Given the description of an element on the screen output the (x, y) to click on. 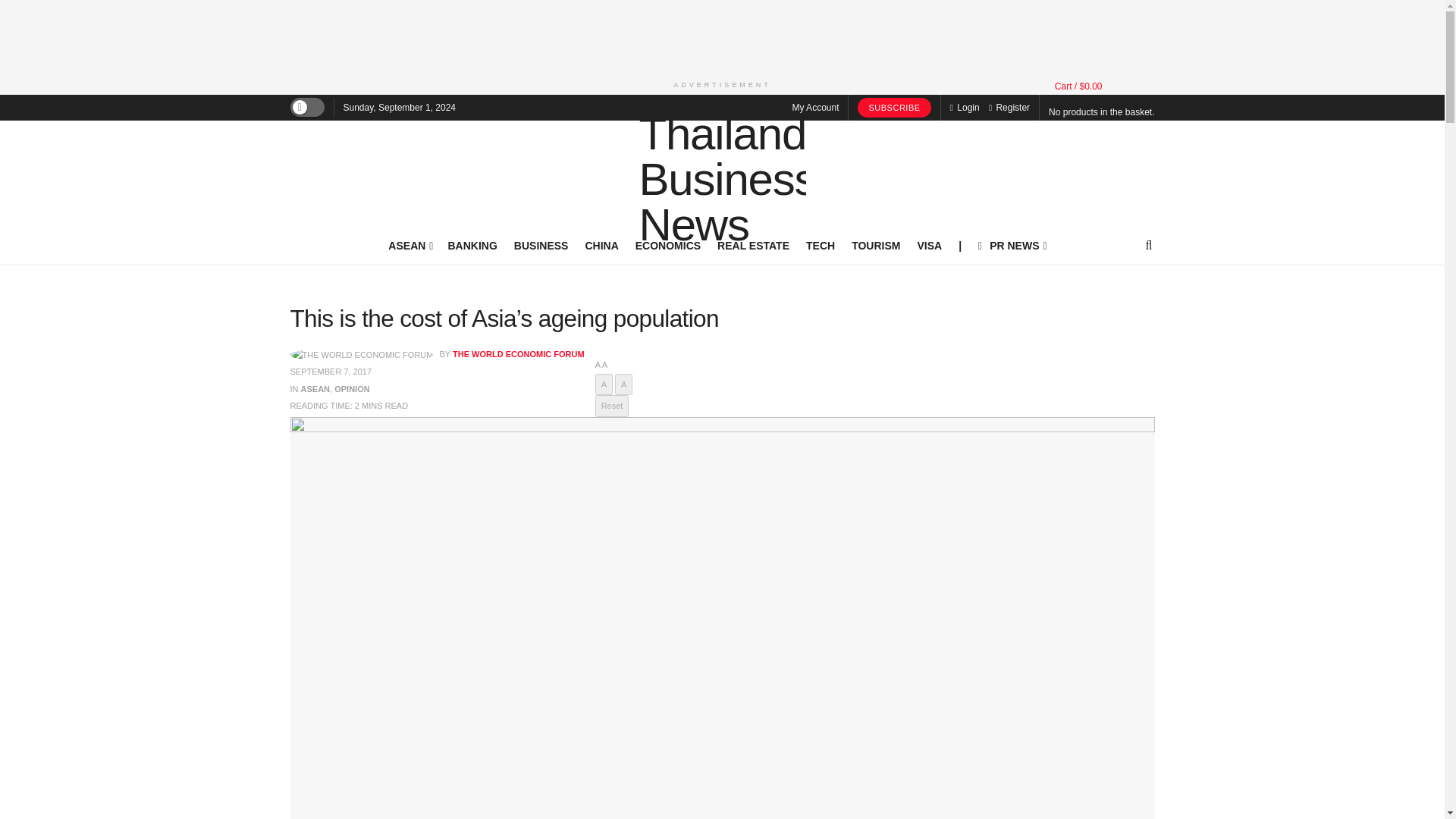
PR NEWS (1011, 245)
View your shopping cart (1078, 86)
TECH (820, 245)
SUBSCRIBE (893, 107)
My Account (815, 107)
ECONOMICS (667, 245)
Register (1008, 107)
CHINA (601, 245)
Login (964, 107)
